Given the description of an element on the screen output the (x, y) to click on. 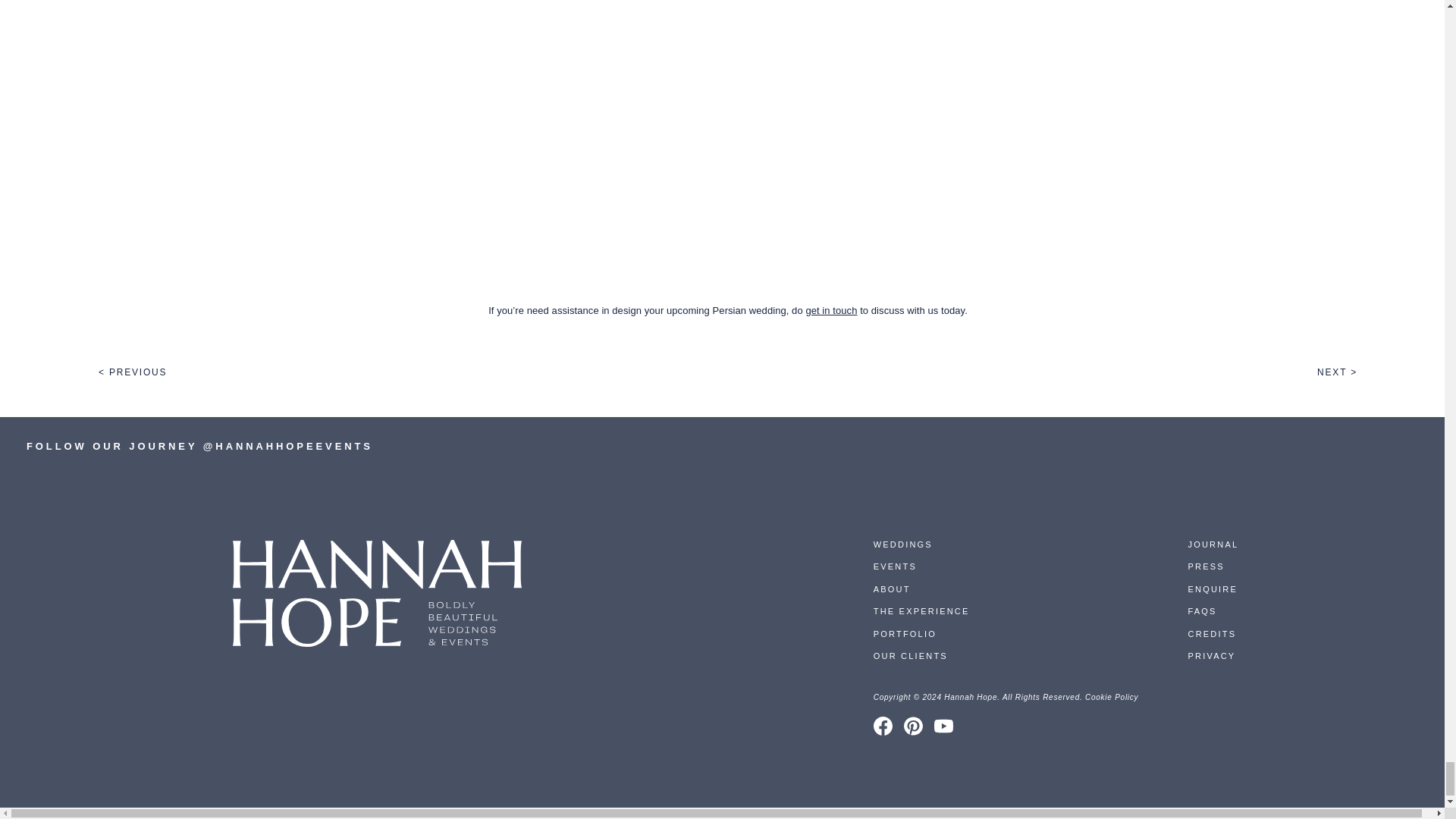
follow us on YouTube (943, 726)
get in touch (831, 310)
follow us on Facebook (882, 726)
find us on Pinterest (913, 726)
